Given the description of an element on the screen output the (x, y) to click on. 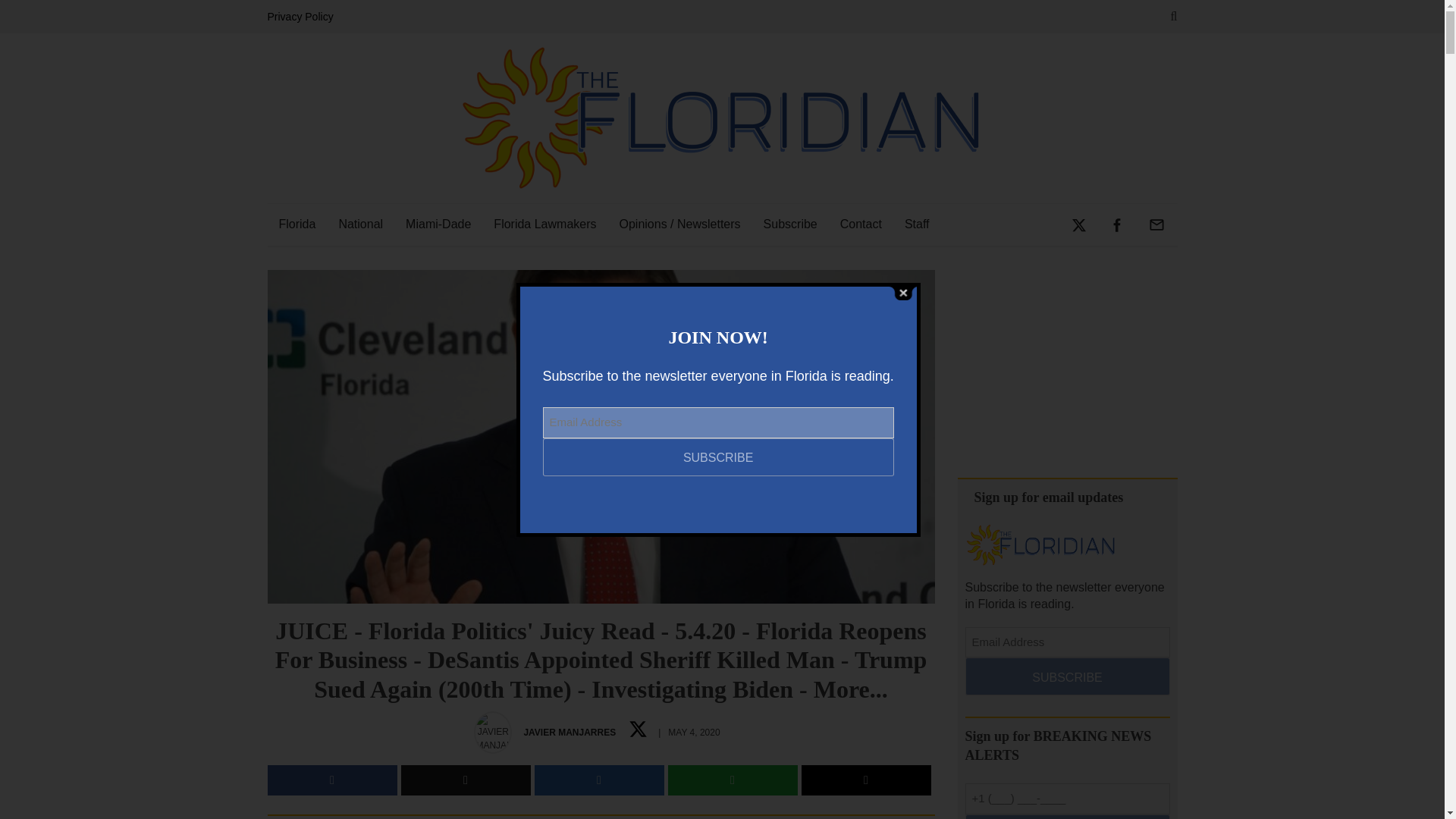
JAVIER MANJARRES (568, 732)
Florida Lawmakers (544, 223)
Florida (296, 223)
SUBSCRIBE (718, 456)
Close (902, 292)
Contact (860, 223)
Subscribe (790, 223)
Staff (916, 223)
3rd party ad content (1066, 364)
National (360, 223)
Miami-Dade (437, 223)
SUBSCRIBE TO SMS (1066, 816)
Privacy Policy (303, 16)
SUBSCRIBE (1066, 676)
